Given the description of an element on the screen output the (x, y) to click on. 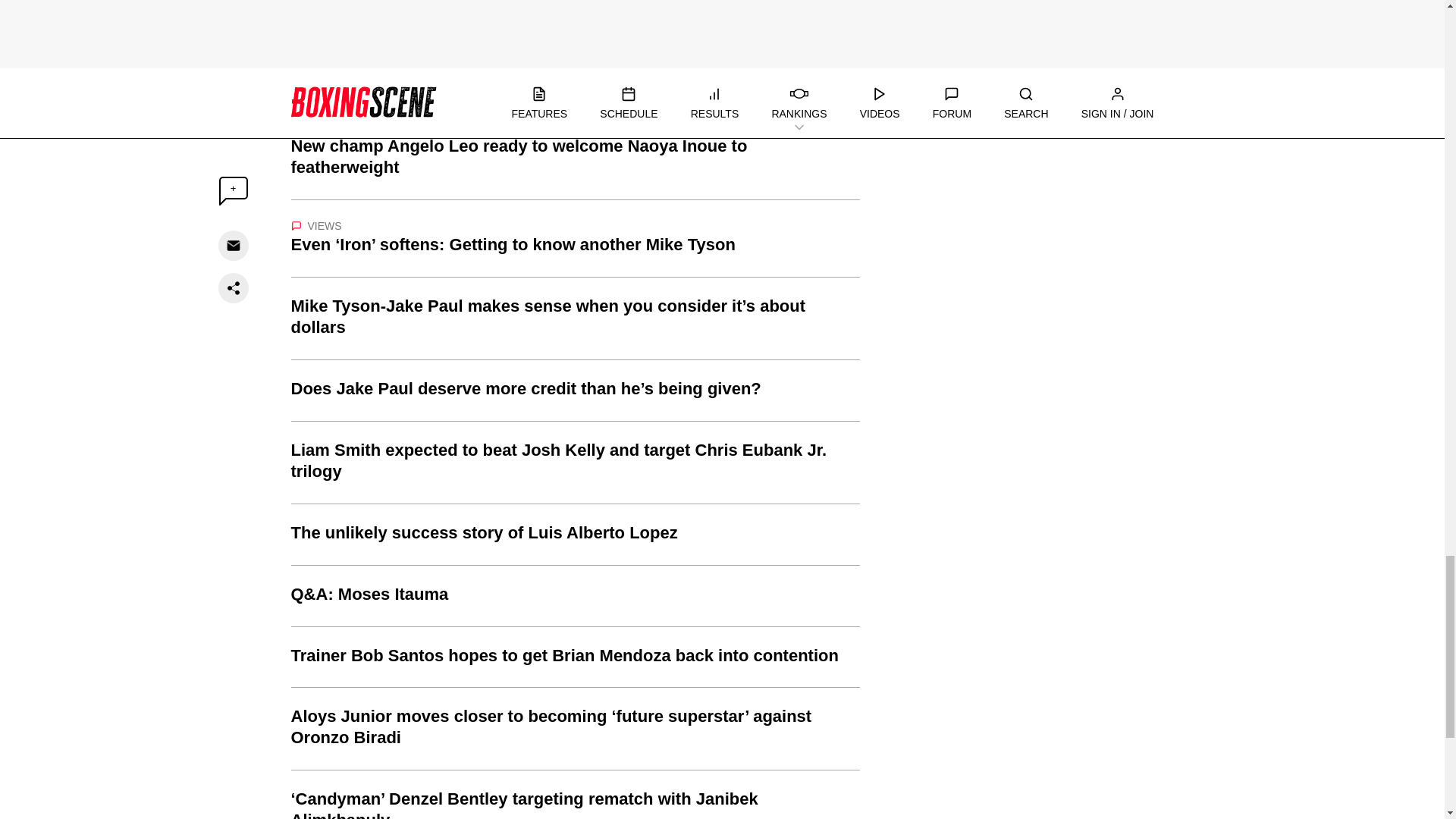
ADD COMMENT (368, 16)
NEWS FEED (329, 94)
